Given the description of an element on the screen output the (x, y) to click on. 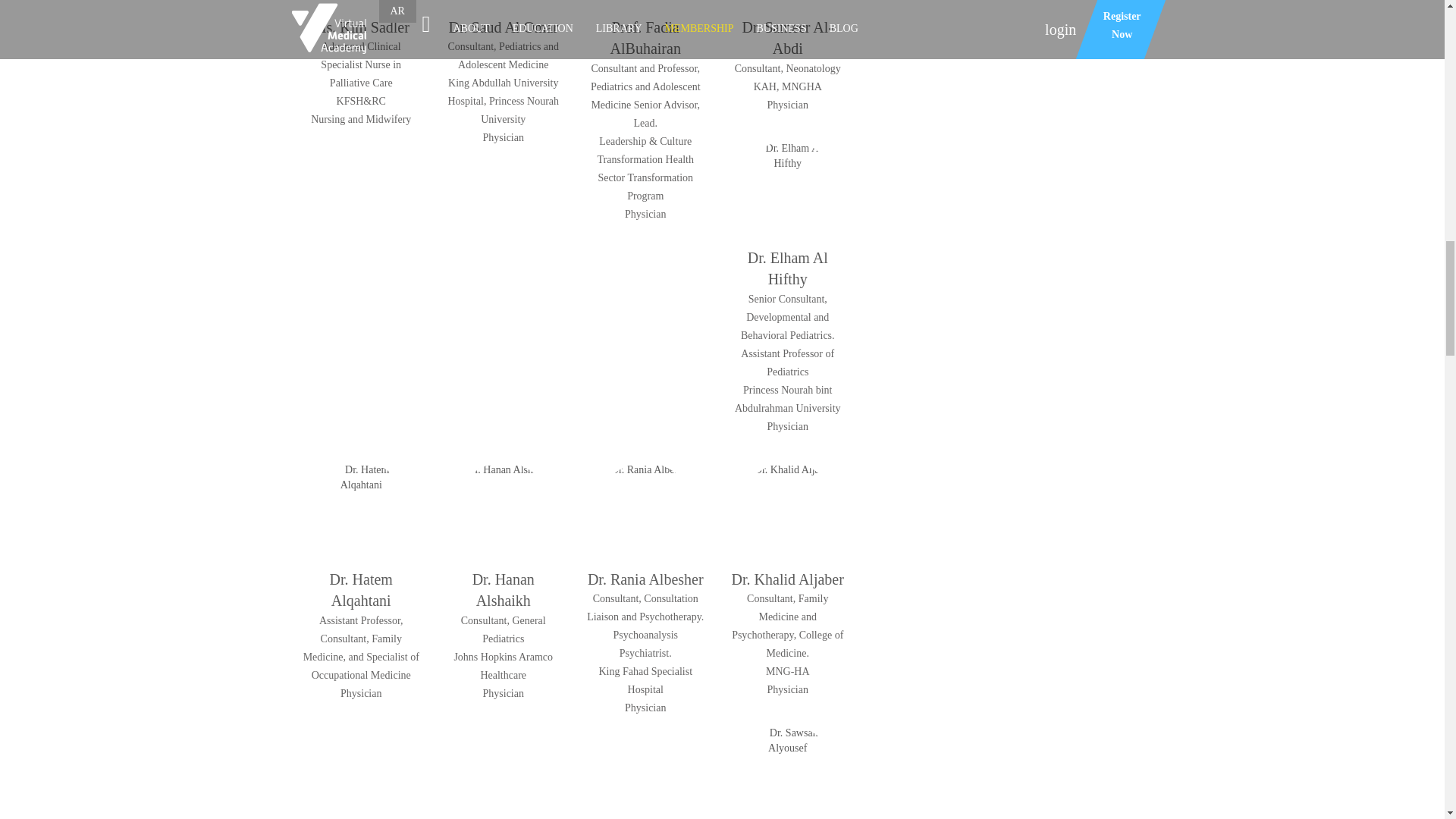
Dr. Rania Albesher (644, 511)
Dr. Hanan Alshaikh (503, 511)
Dr. Hatem Alqahtani (360, 511)
Dr. Sawsan Alyousef (787, 772)
Dr. Khalid Aljaber (787, 511)
Prof. Fadia AlBuhairan (644, 4)
Dr. Saud Al Omar (503, 4)
Dr. Elham Al Hifthy (787, 189)
Dr. Sameer Al-Abdi (787, 4)
